Given the description of an element on the screen output the (x, y) to click on. 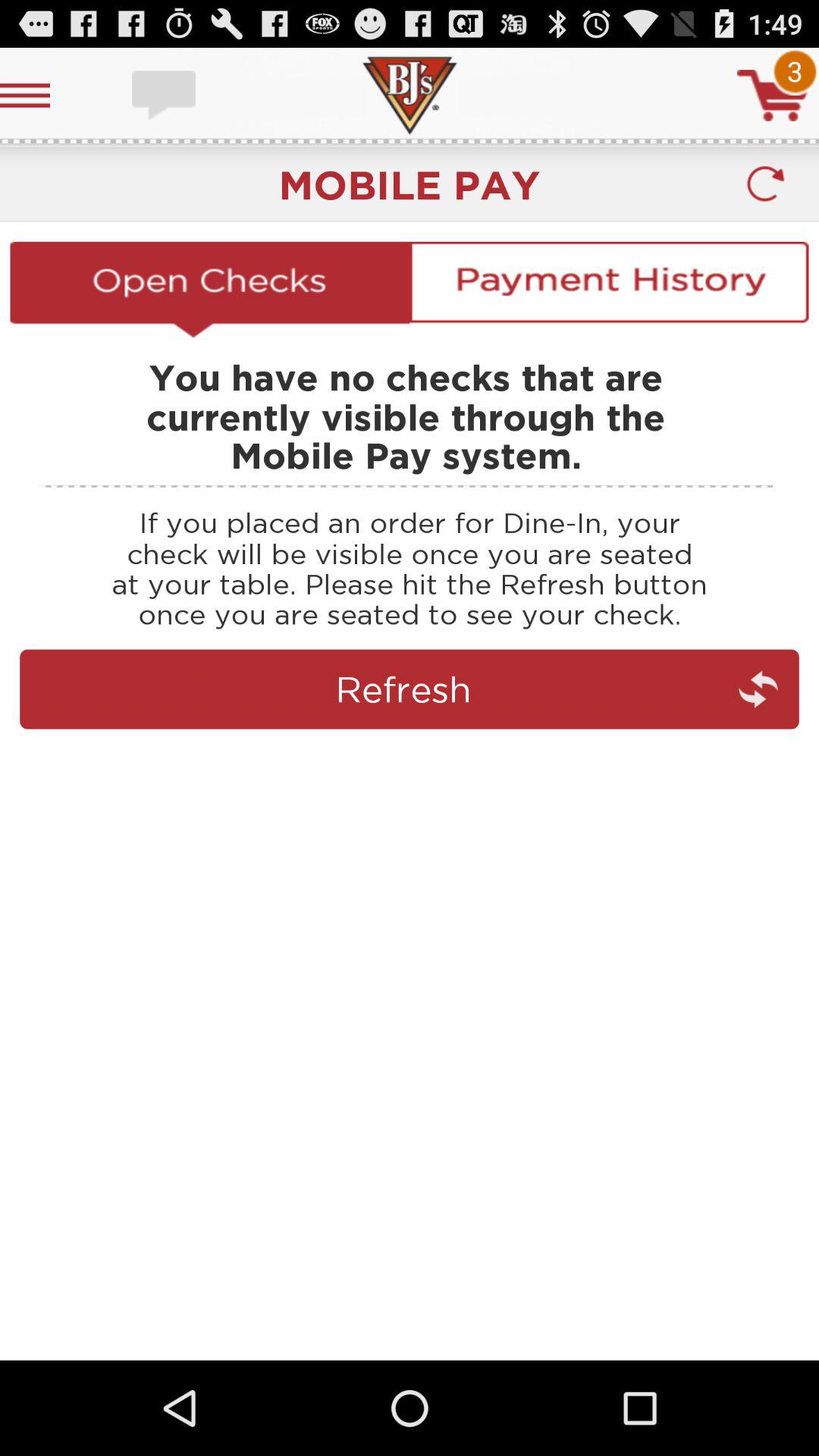
shopping cart (772, 95)
